Given the description of an element on the screen output the (x, y) to click on. 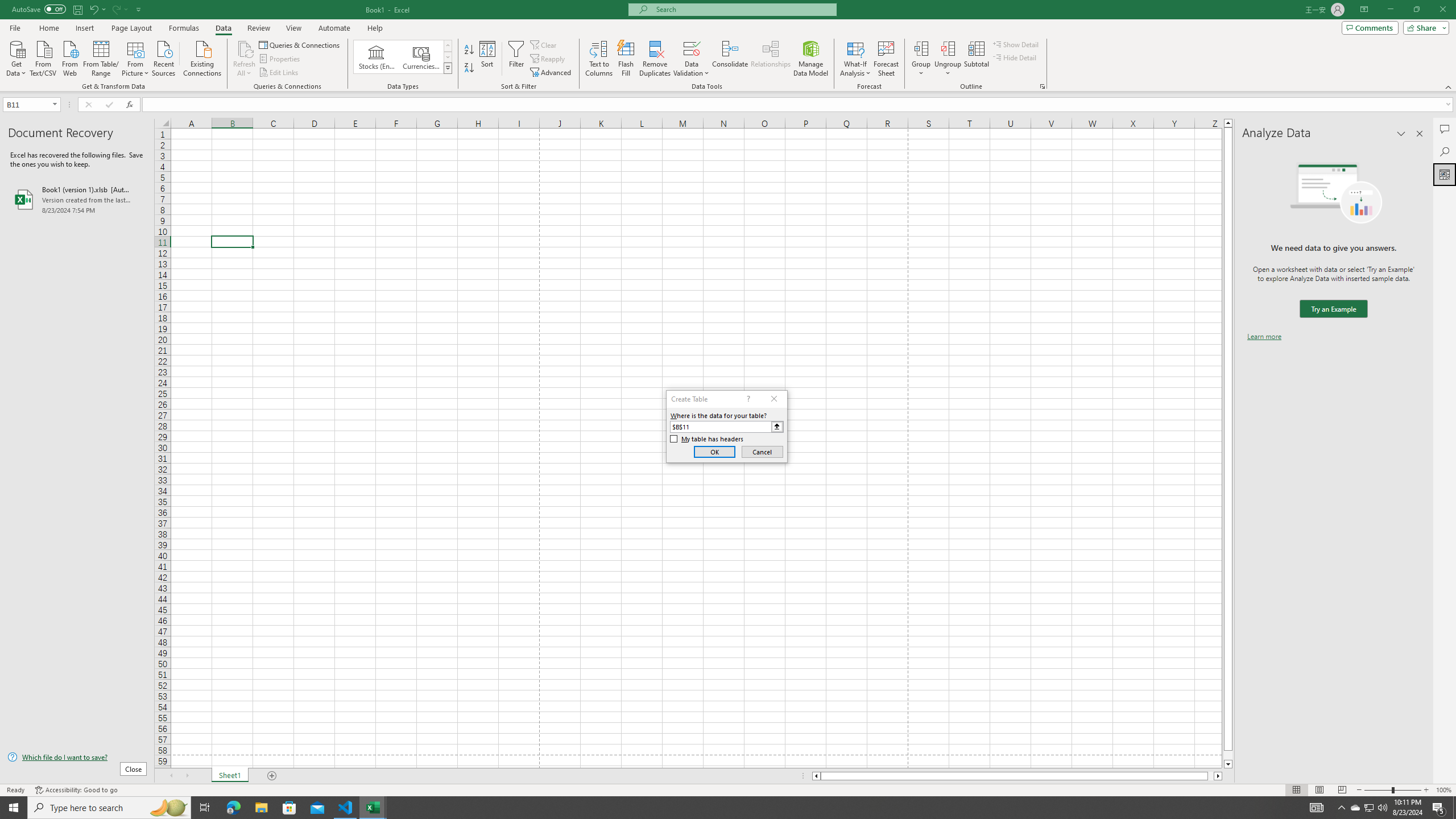
From Picture (135, 57)
Get Data (16, 57)
AutomationID: ConvertToLinkedEntity (403, 56)
Learn more (1264, 336)
Advanced... (551, 72)
Stocks (English) (375, 56)
